Given the description of an element on the screen output the (x, y) to click on. 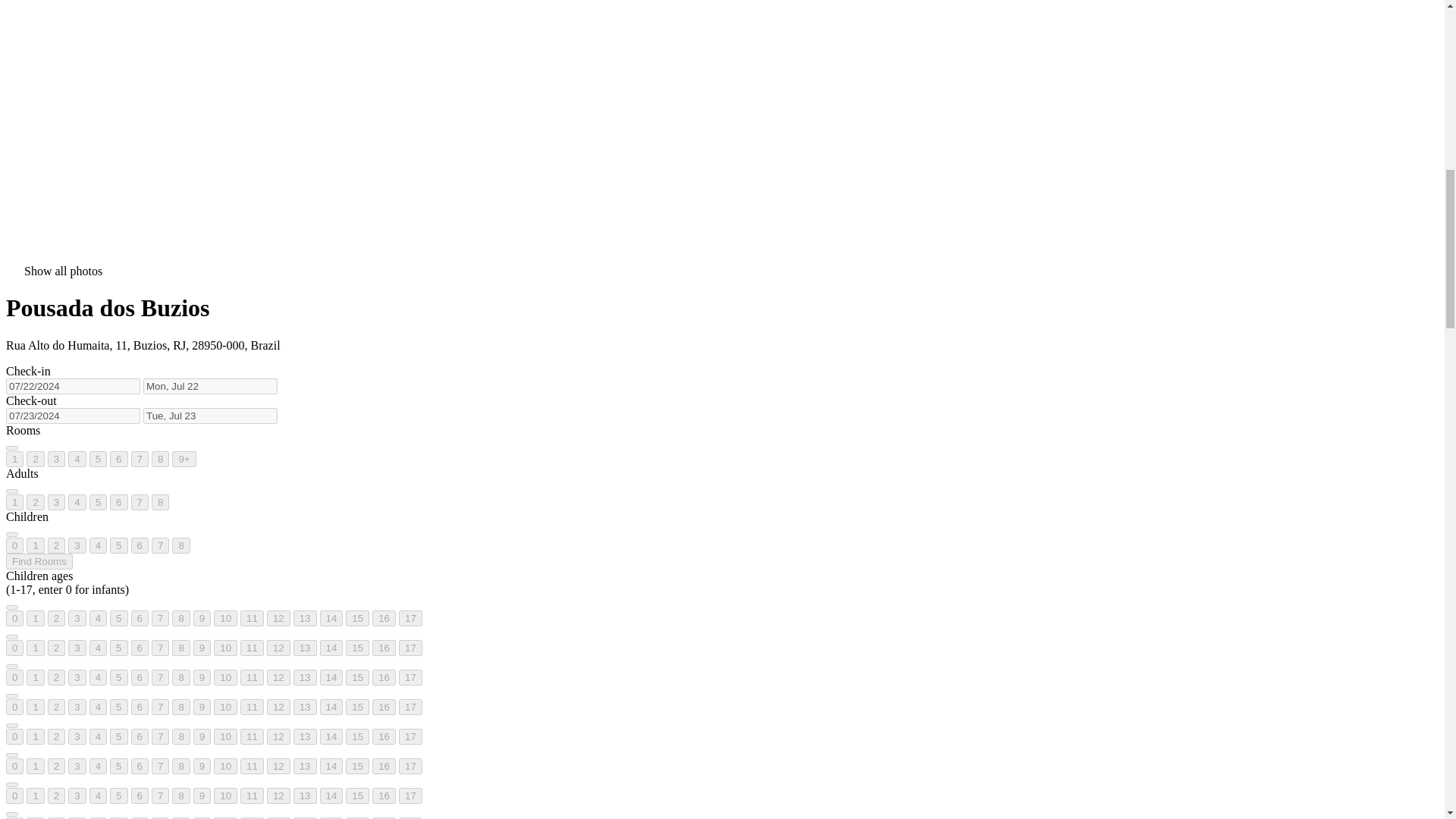
6 (119, 502)
5 (119, 545)
3 (76, 545)
4 (76, 502)
8 (159, 502)
2 (34, 502)
Tue, Jul 23 (210, 415)
4 (76, 458)
2 (56, 545)
4 (97, 545)
6 (119, 458)
3 (56, 458)
7 (139, 458)
5 (97, 502)
5 (97, 458)
